Given the description of an element on the screen output the (x, y) to click on. 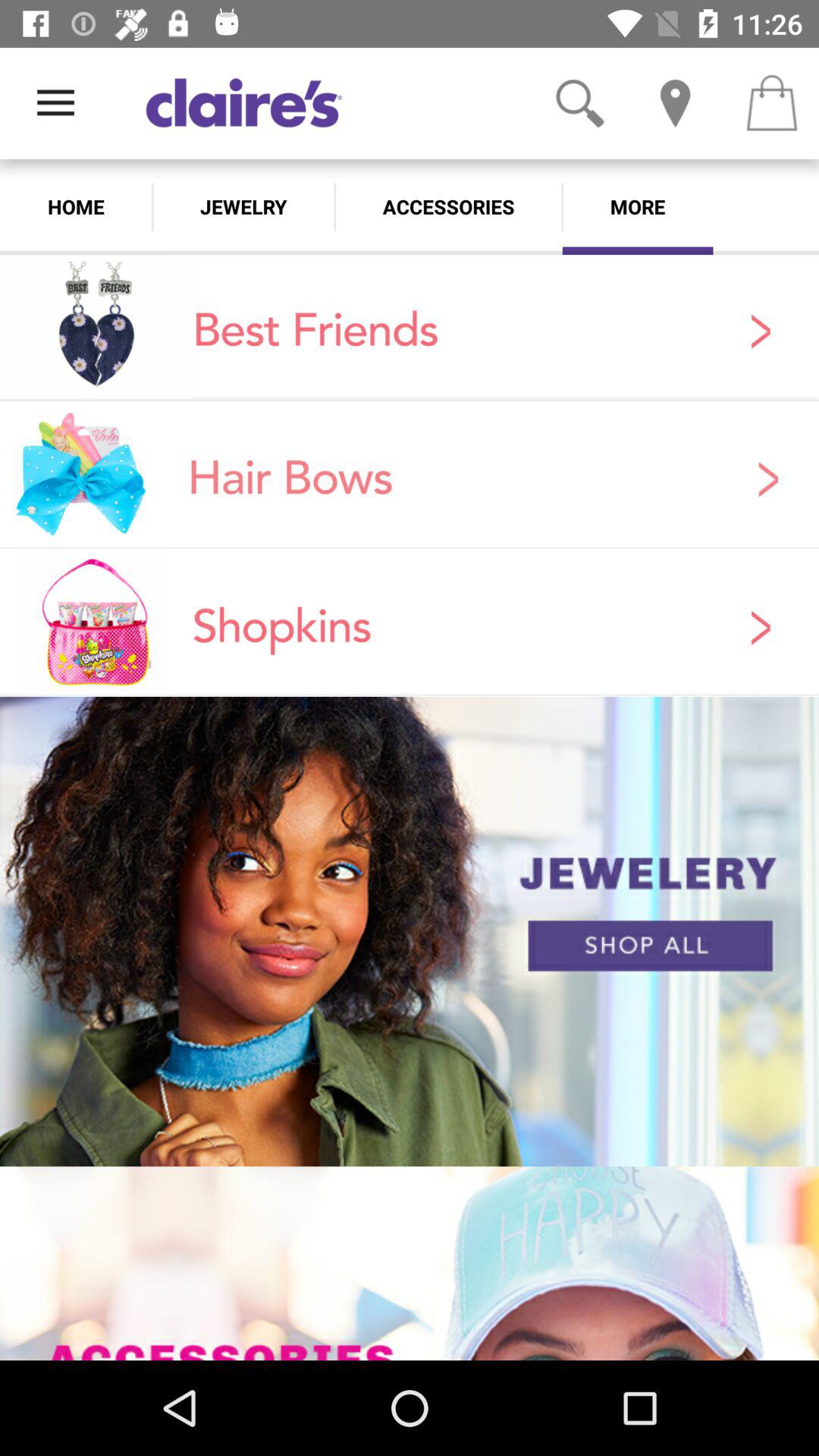
turn on item to the right of the home icon (243, 206)
